Given the description of an element on the screen output the (x, y) to click on. 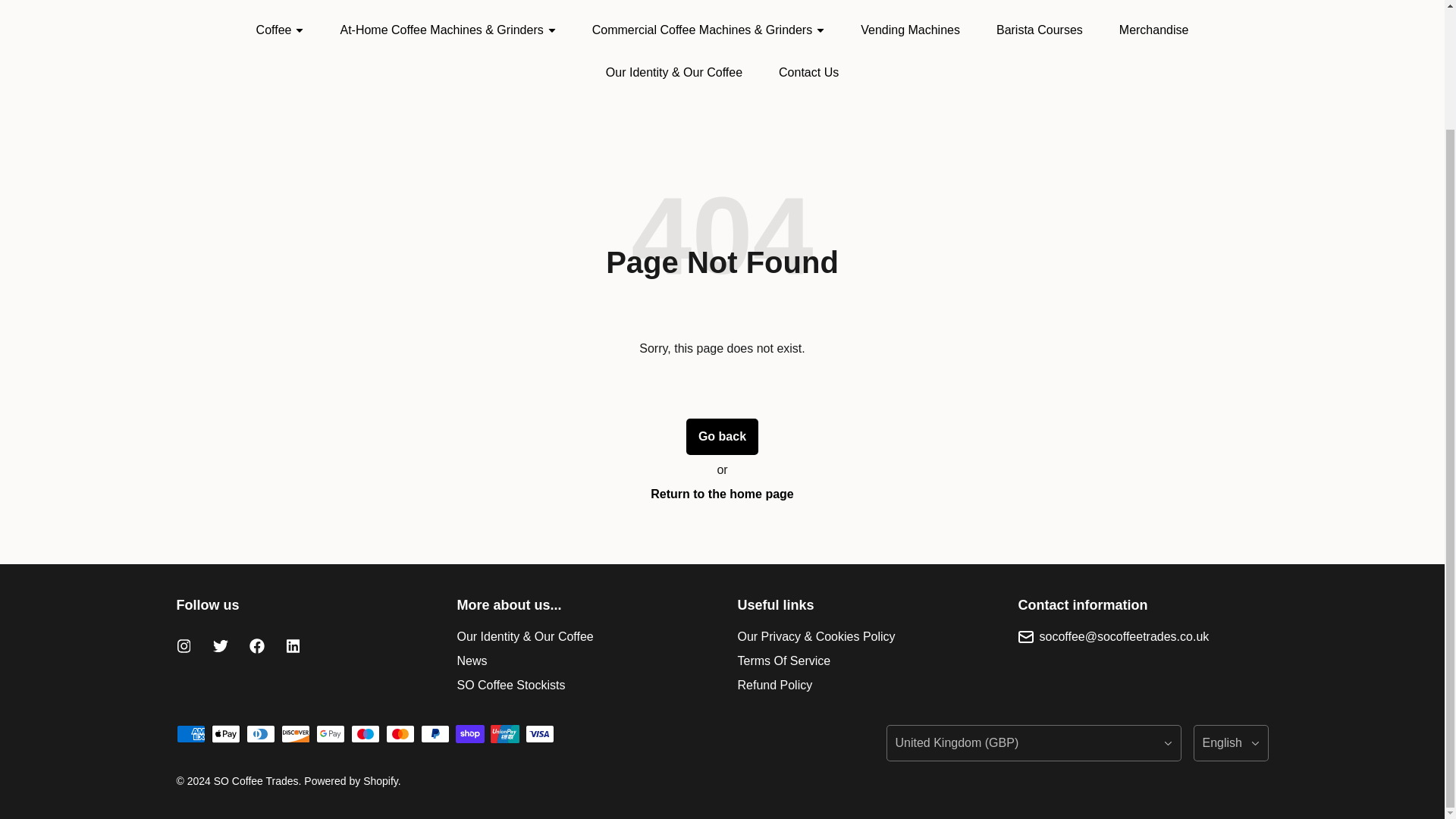
Facebook (256, 646)
LinkedIn (293, 646)
Instagram (183, 646)
Twitter (220, 646)
Barista Courses (1039, 30)
Return to the home page (721, 494)
Merchandise (1153, 30)
Go back (721, 436)
Contact Us (808, 72)
Vending Machines (910, 30)
